Given the description of an element on the screen output the (x, y) to click on. 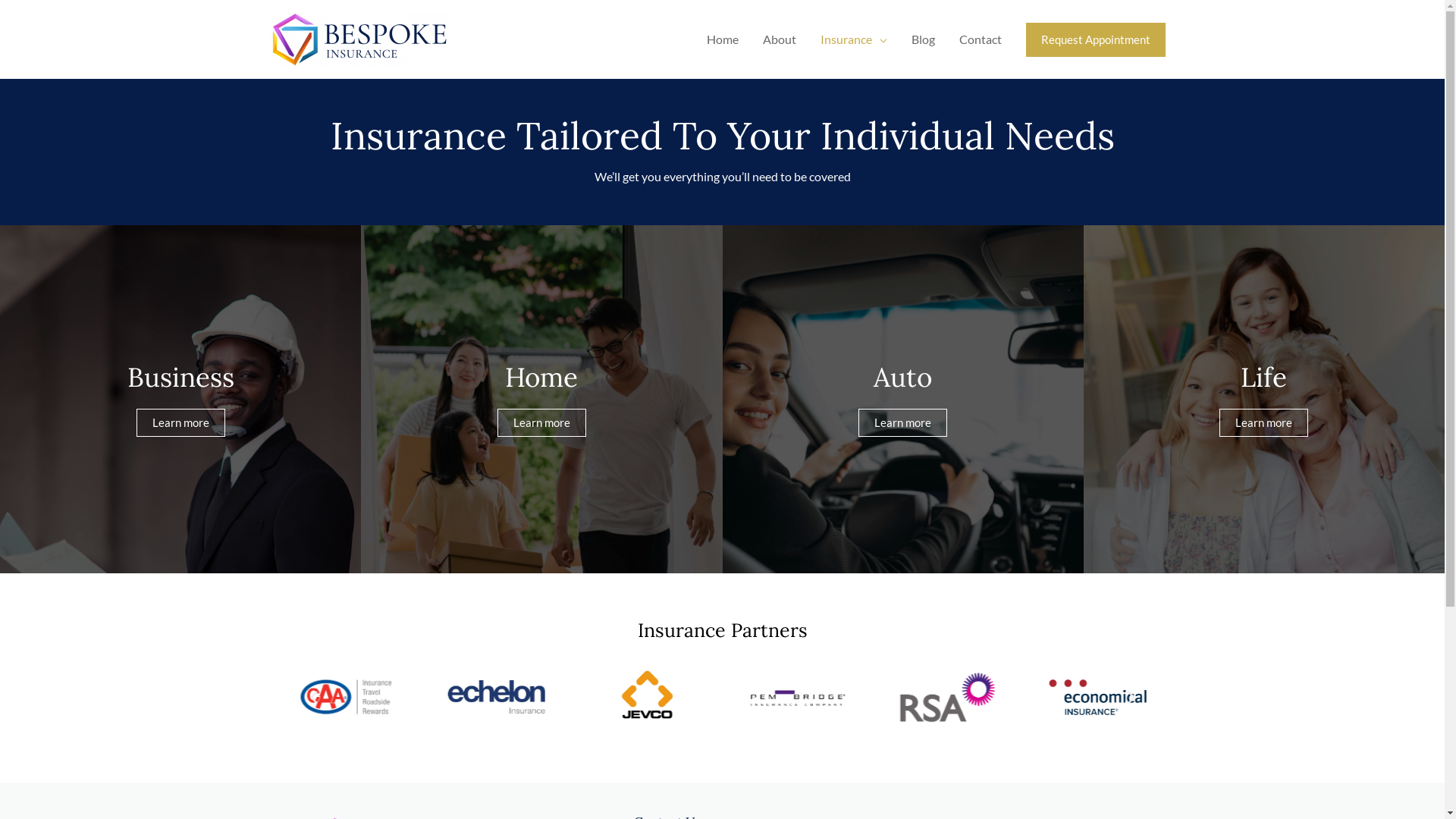
Learn more Element type: text (541, 422)
Contact Element type: text (979, 39)
About Element type: text (779, 39)
Insurance Element type: text (853, 39)
Home Element type: text (722, 39)
Request Appointment Element type: text (1094, 39)
Blog Element type: text (923, 39)
Learn more Element type: text (1263, 422)
Learn more Element type: text (180, 422)
Learn more Element type: text (902, 422)
